Given the description of an element on the screen output the (x, y) to click on. 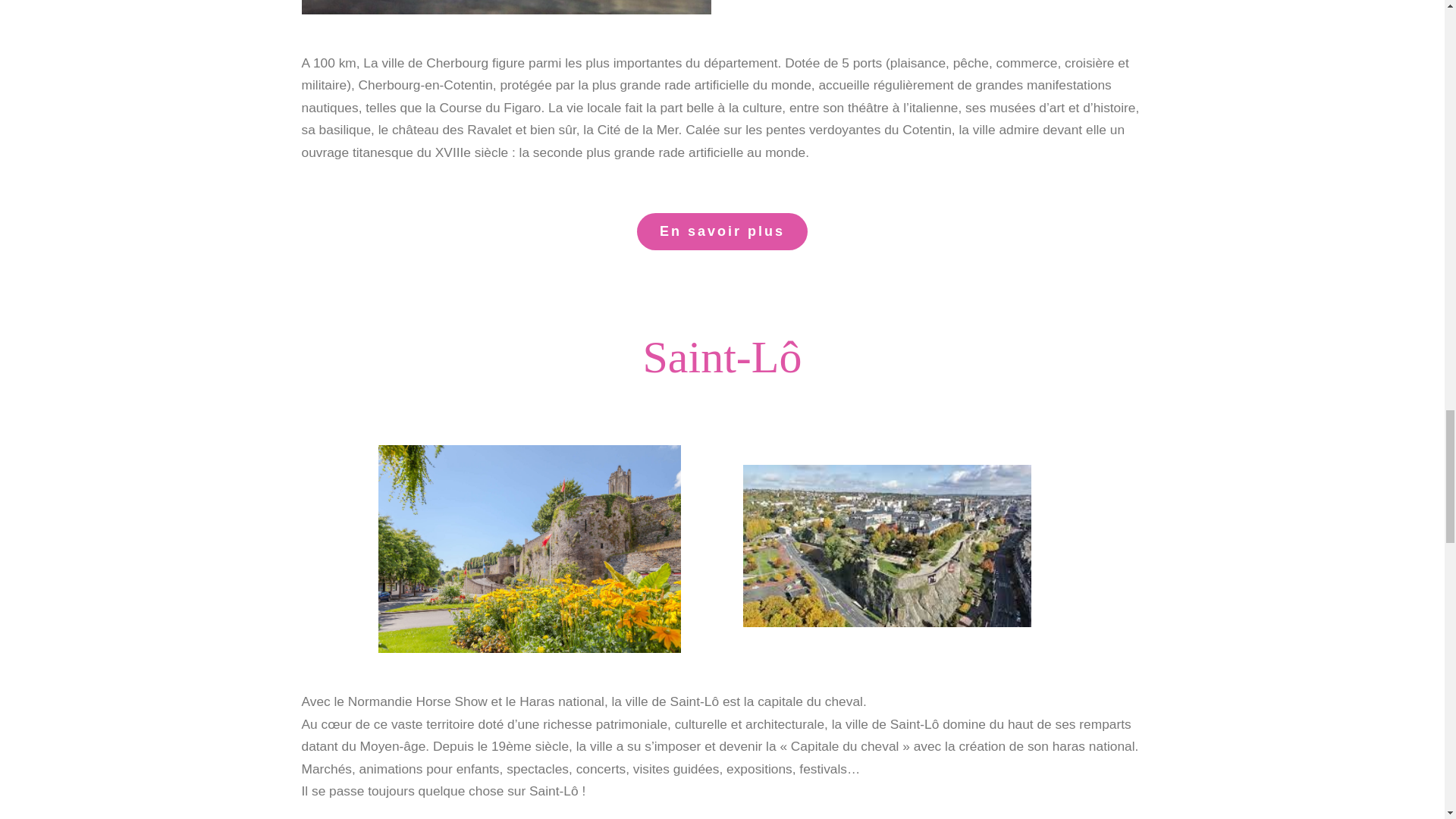
En savoir plus (722, 231)
